Given the description of an element on the screen output the (x, y) to click on. 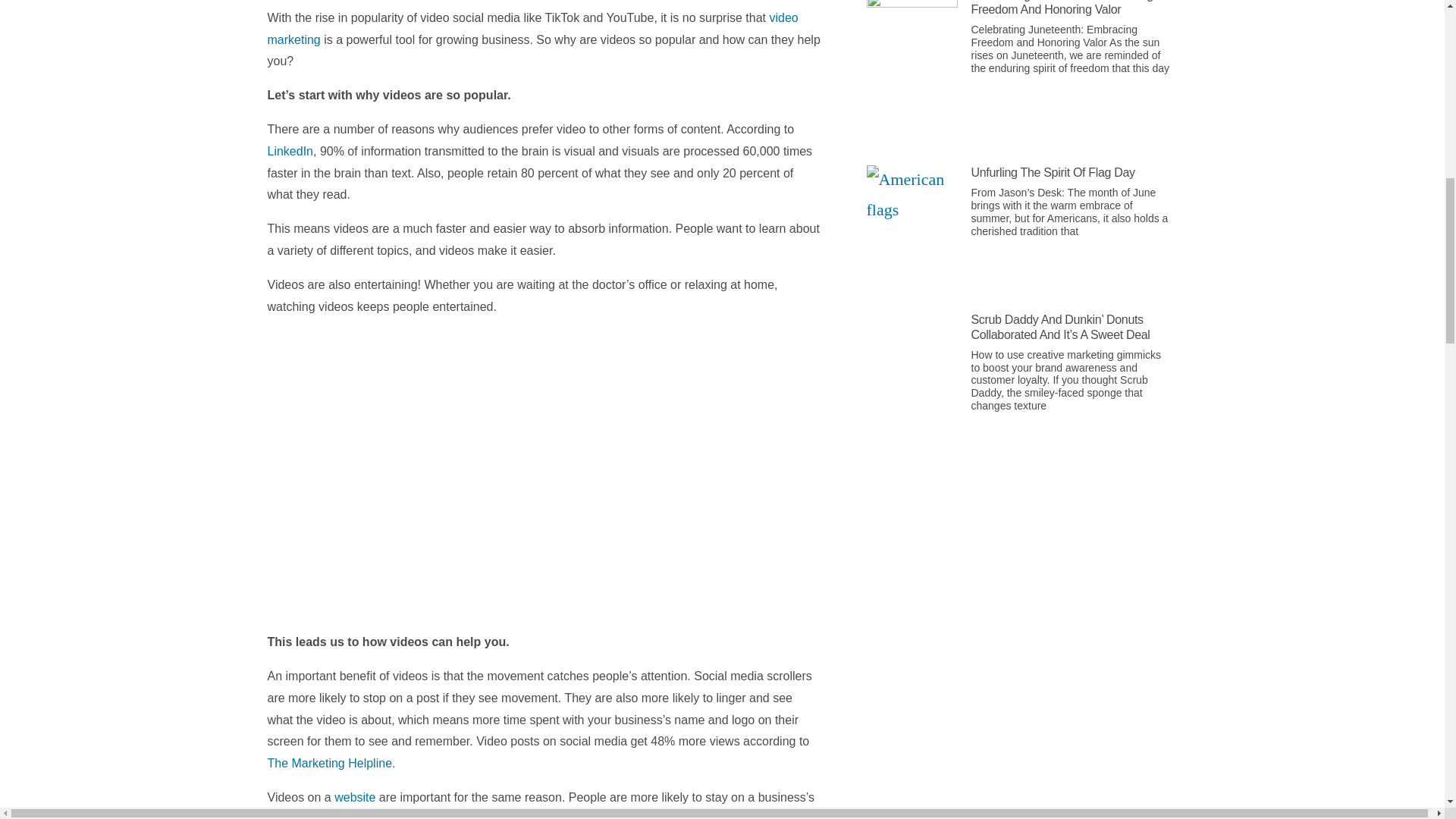
Celebrating Juneteenth: Embracing Freedom And Honoring Valor (1062, 7)
LinkedIn (289, 151)
Unfurling The Spirit Of Flag Day (1052, 172)
video marketing (531, 28)
website (354, 797)
The Marketing Helpline. (330, 762)
